Given the description of an element on the screen output the (x, y) to click on. 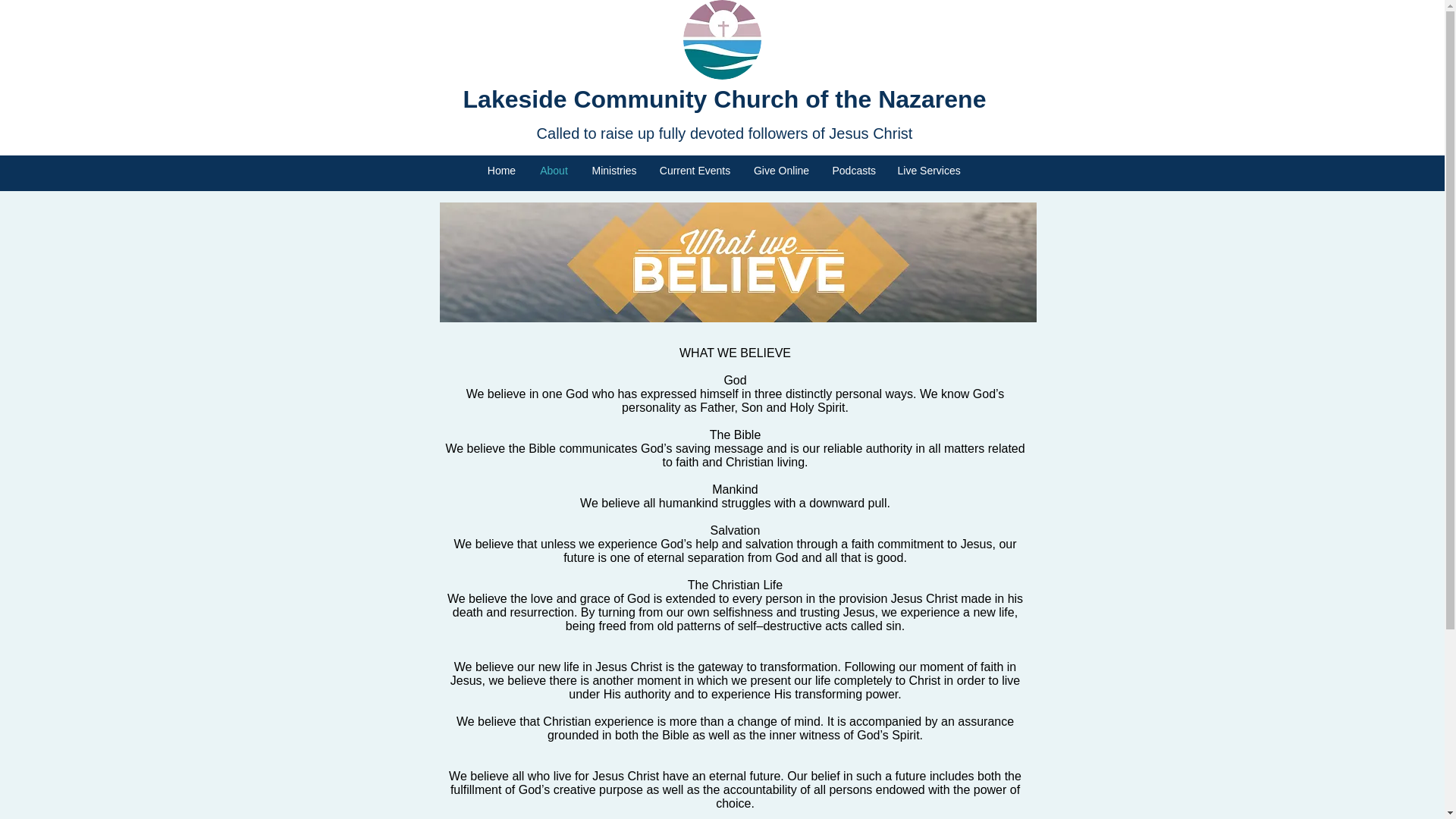
Current Events (694, 169)
About (553, 169)
Lakeside logo alone color.jpg (721, 39)
Live Services (926, 169)
Home (501, 169)
Podcasts (853, 169)
Give Online (781, 169)
Ministries (613, 169)
